Given the description of an element on the screen output the (x, y) to click on. 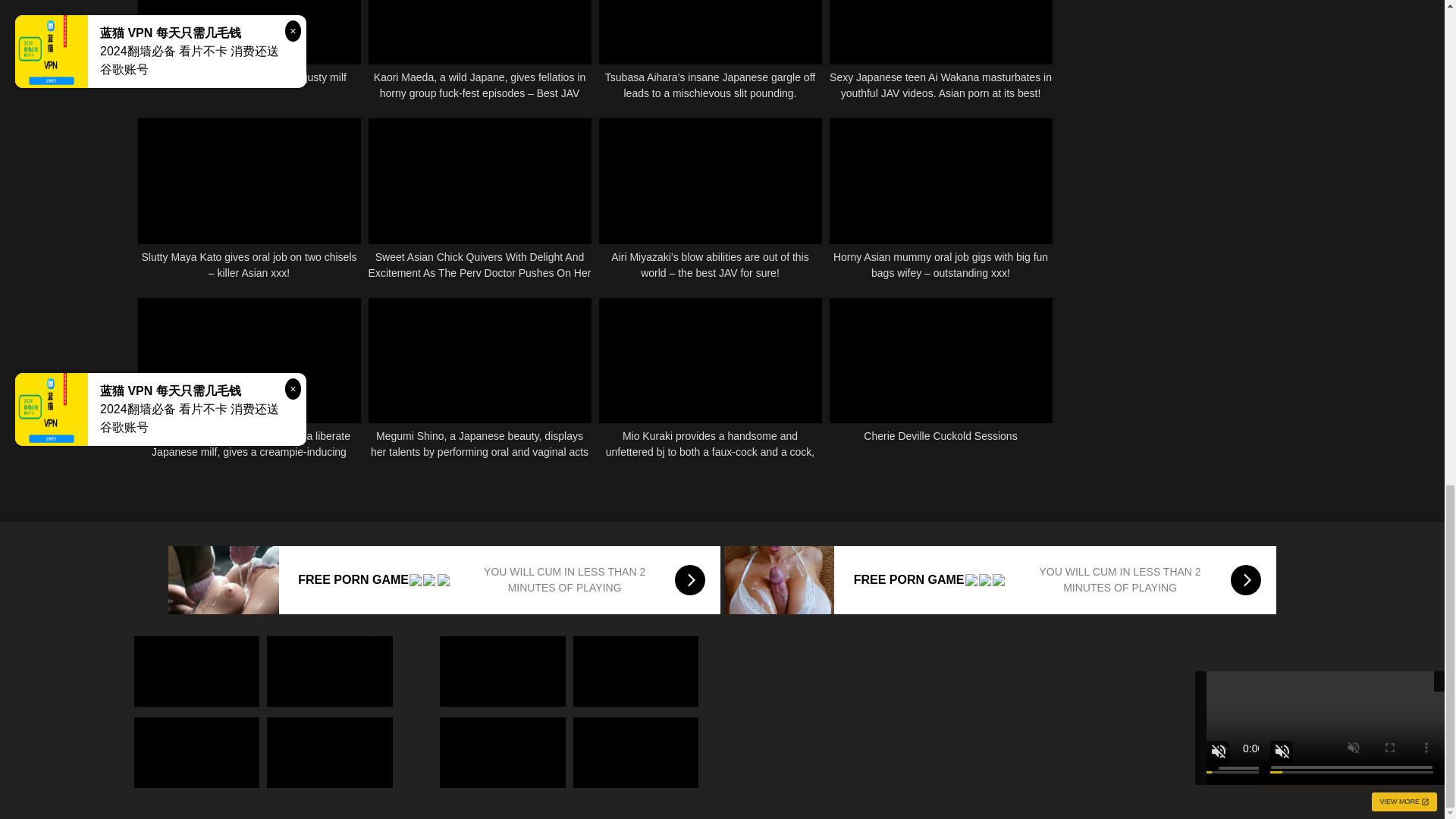
Cherie Deville Cuckold Sessions (940, 379)
Secret video of Japanese K-cup justy milf (249, 50)
Secret video of Japanese K-cup justy milf (249, 50)
